Given the description of an element on the screen output the (x, y) to click on. 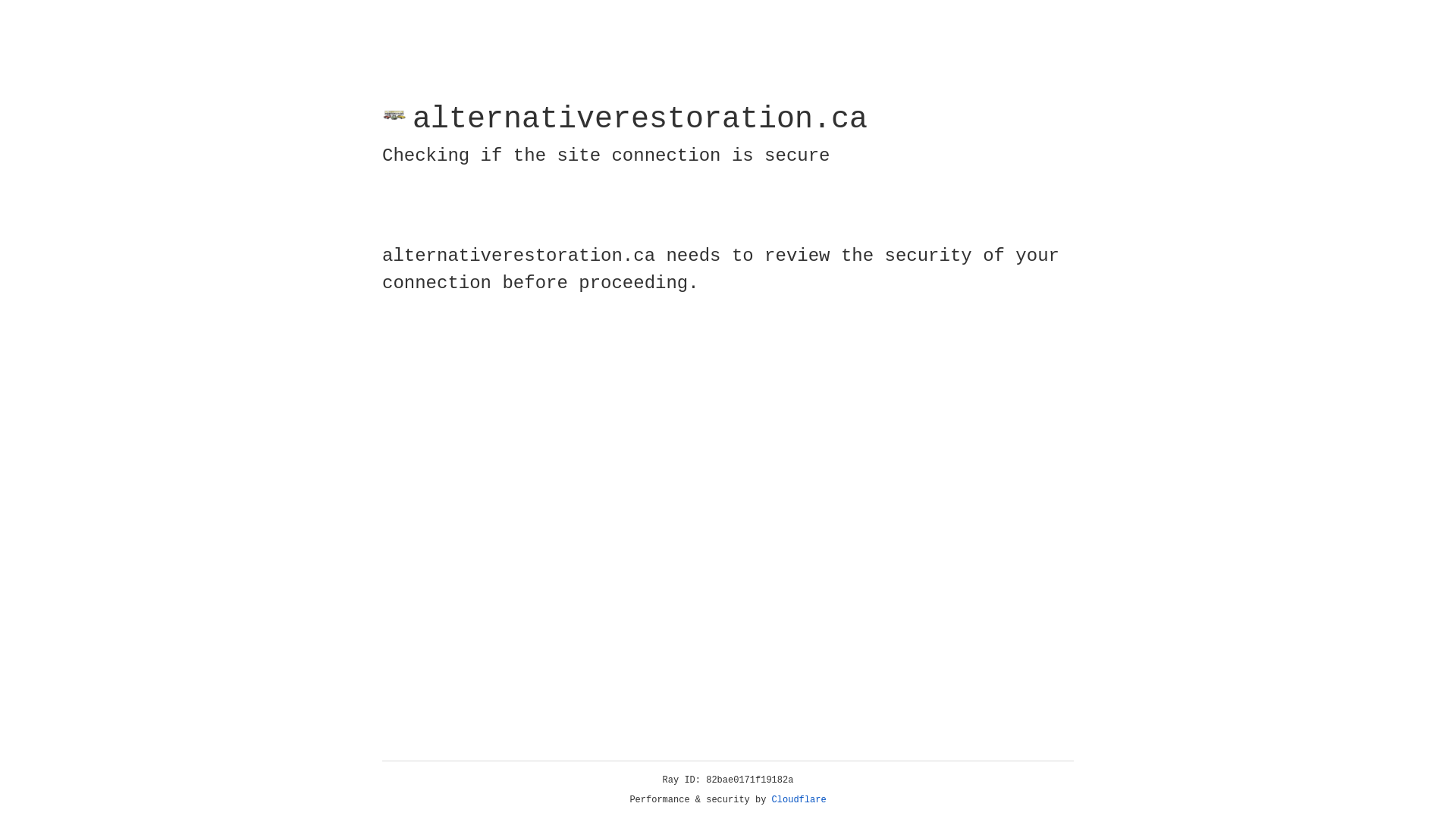
Cloudflare Element type: text (798, 799)
